Given the description of an element on the screen output the (x, y) to click on. 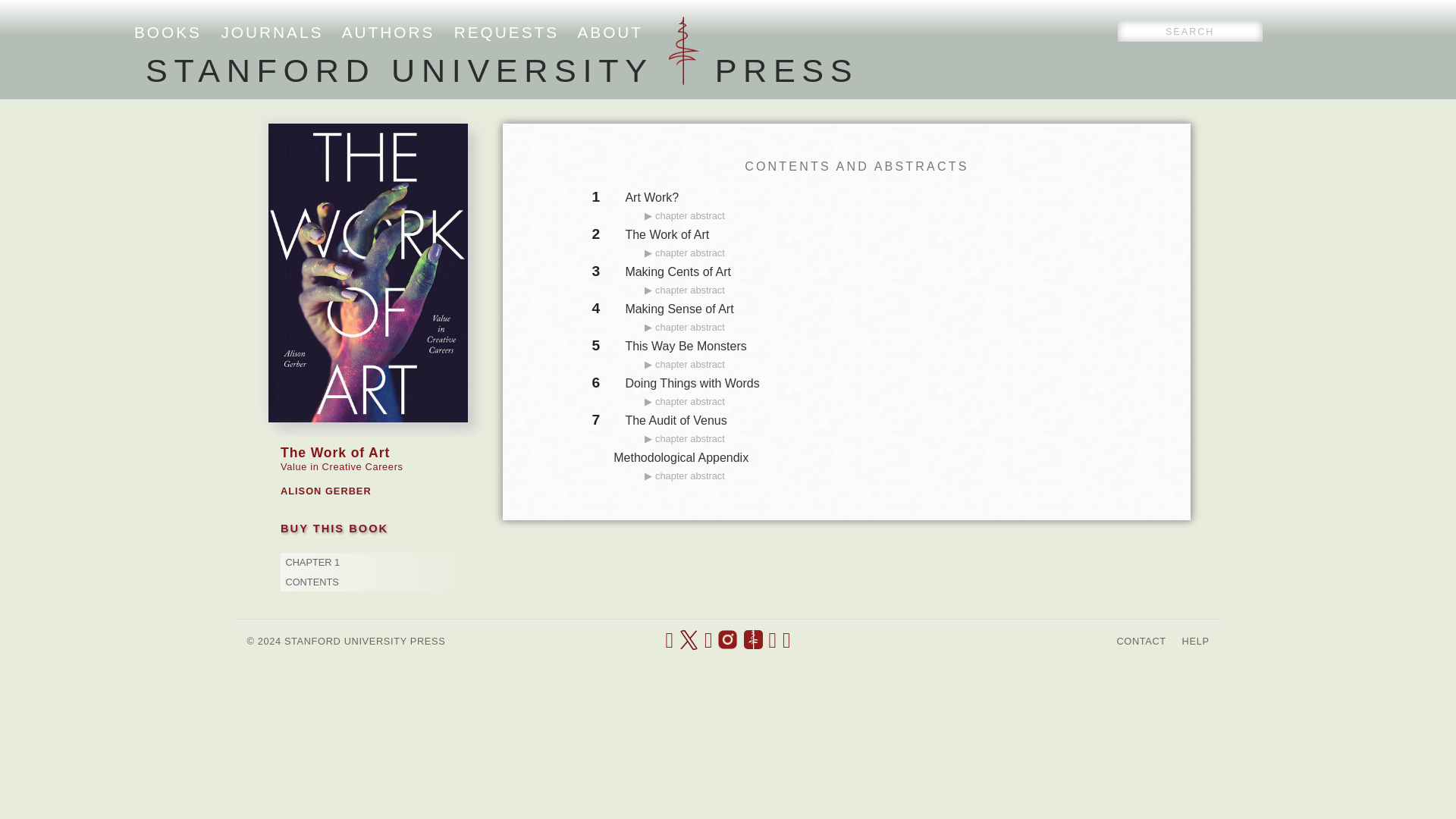
STANFORD UNIVERSITY PRESS (502, 70)
CONTACT (1141, 641)
REQUESTS (506, 31)
BUY THIS BOOK (334, 527)
BOOKS (167, 31)
AUTHORS (388, 31)
ABOUT (609, 31)
HELP (1195, 641)
JOURNALS (272, 31)
CHAPTER 1 (312, 562)
CONTENTS (311, 582)
